Given the description of an element on the screen output the (x, y) to click on. 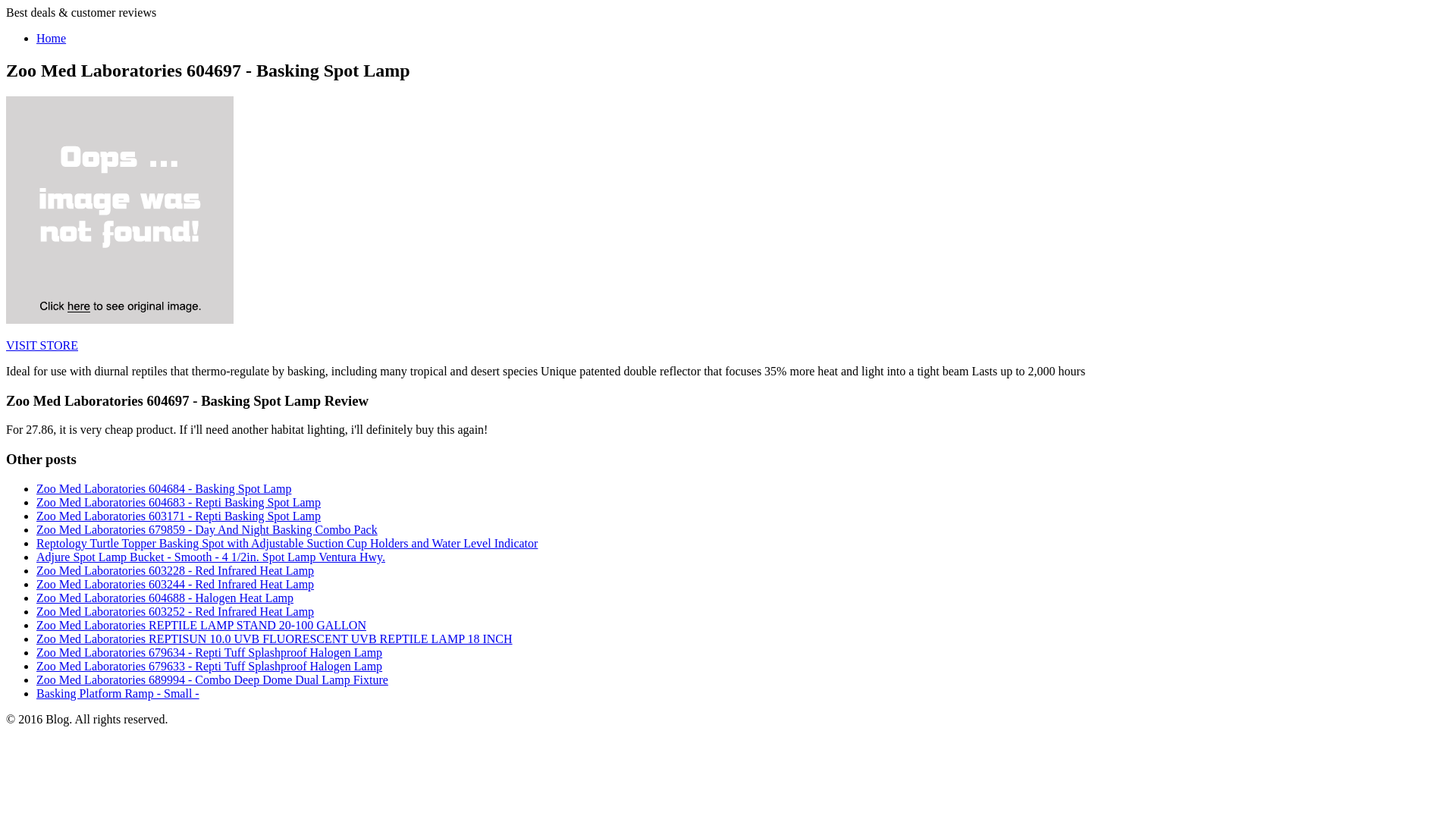
Zoo Med Laboratories 603228 - Red Infrared Heat Lamp (175, 570)
Zoo Med Laboratories 603244 - Red Infrared Heat Lamp (175, 584)
Basking Platform Ramp - Small - (117, 693)
Zoo Med Laboratories 604683 - Repti Basking Spot Lamp (178, 502)
Zoo Med Laboratories 604684 - Basking Spot Lamp (163, 488)
Zoo Med Laboratories 603252 - Red Infrared Heat Lamp (175, 611)
Zoo Med Laboratories 603252 - Red Infrared Heat Lamp (175, 611)
Zoo Med Laboratories 603171 - Repti Basking Spot Lamp (178, 515)
